Given the description of an element on the screen output the (x, y) to click on. 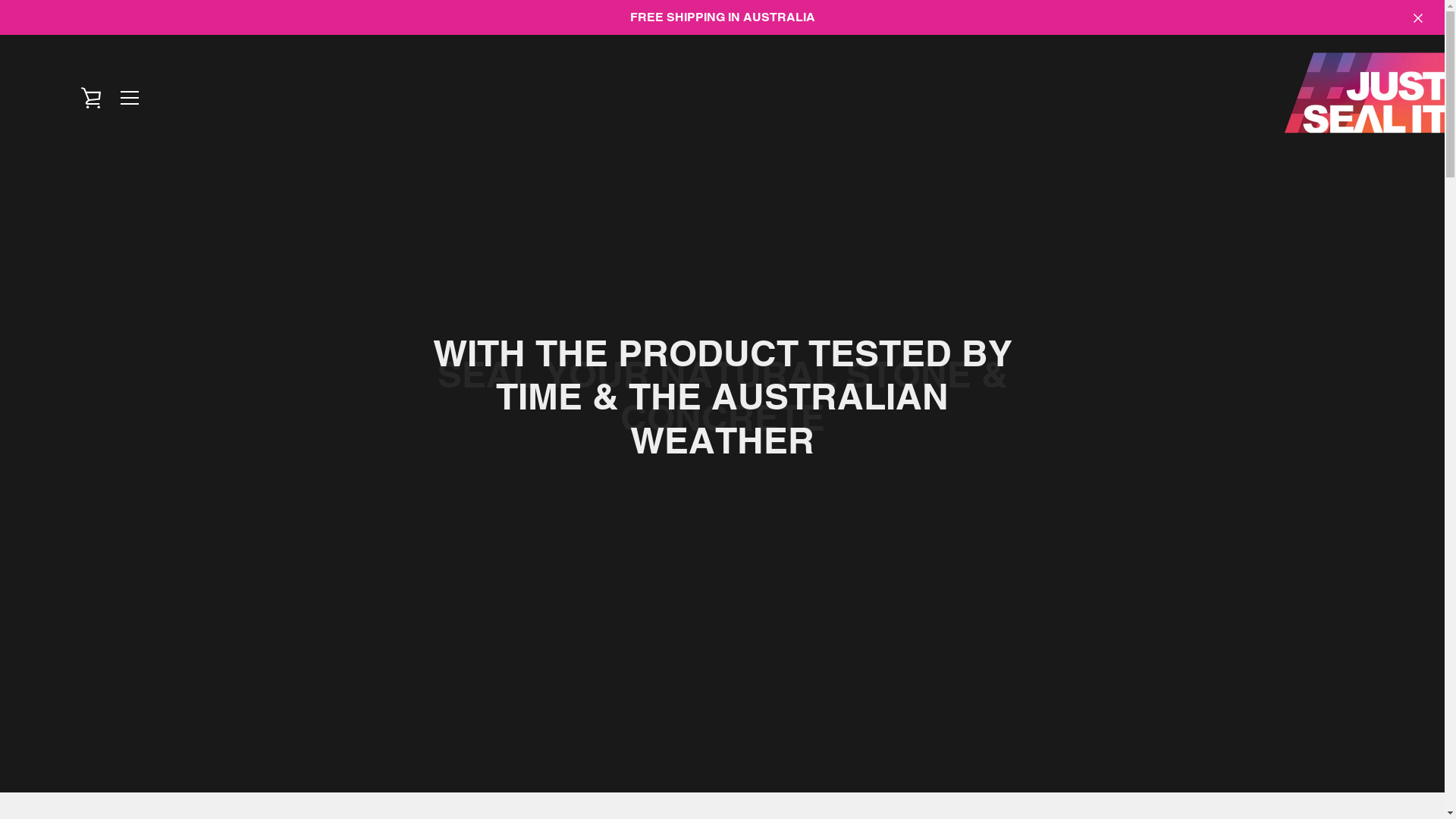
PRODUCTS Element type: text (689, 717)
#JUSTSEALIT Element type: text (753, 777)
ABOUT Element type: text (747, 717)
Facebook Element type: text (372, 776)
VIEW CART Element type: text (91, 97)
HOME Element type: text (634, 717)
Instagram Element type: text (398, 776)
CONTACT Element type: text (801, 717)
MENU Element type: text (129, 97)
Skip to content Element type: text (0, 0)
